Given the description of an element on the screen output the (x, y) to click on. 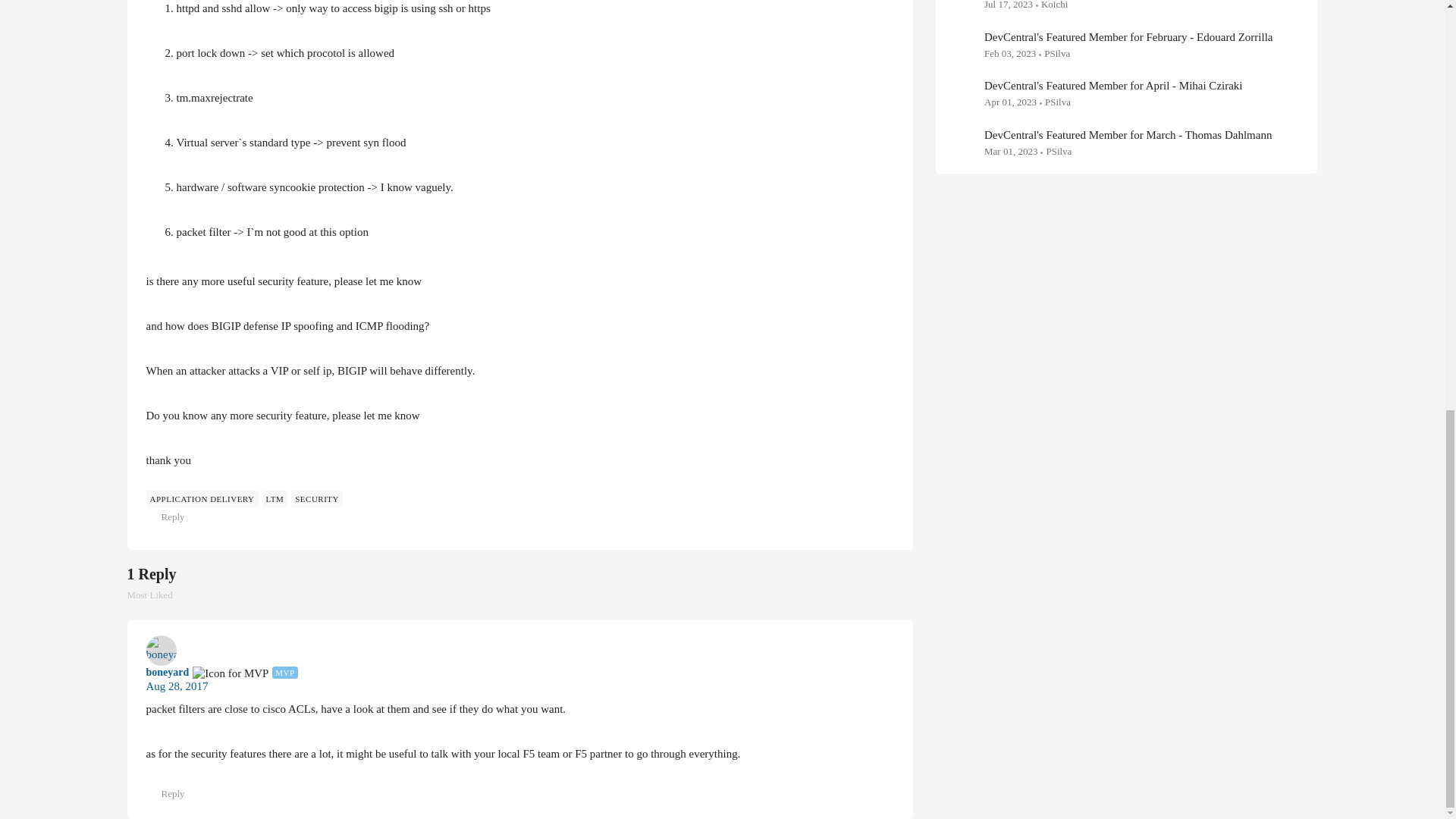
APPLICATION DELIVERY (201, 498)
August 28, 2017 at 7:28 PM (176, 686)
July 17, 2023 at 12:00 PM (1008, 4)
Reply (166, 516)
SECURITY (316, 498)
Aug 28, 2017 (157, 594)
February 3, 2023 at 7:02 PM (176, 686)
Reply (1009, 52)
boneyard (166, 793)
LTM (167, 672)
